Given the description of an element on the screen output the (x, y) to click on. 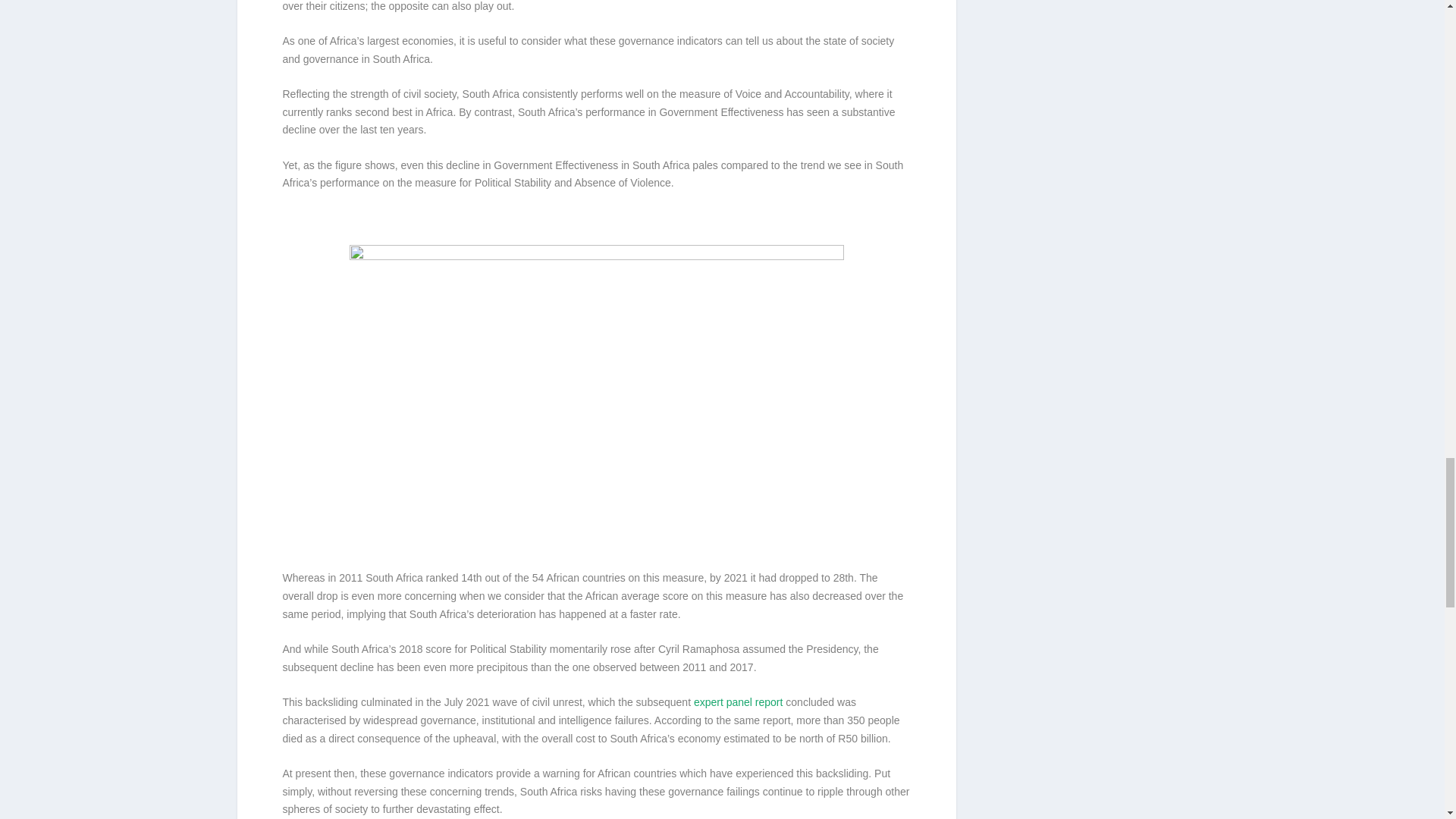
expert panel report (738, 702)
